Given the description of an element on the screen output the (x, y) to click on. 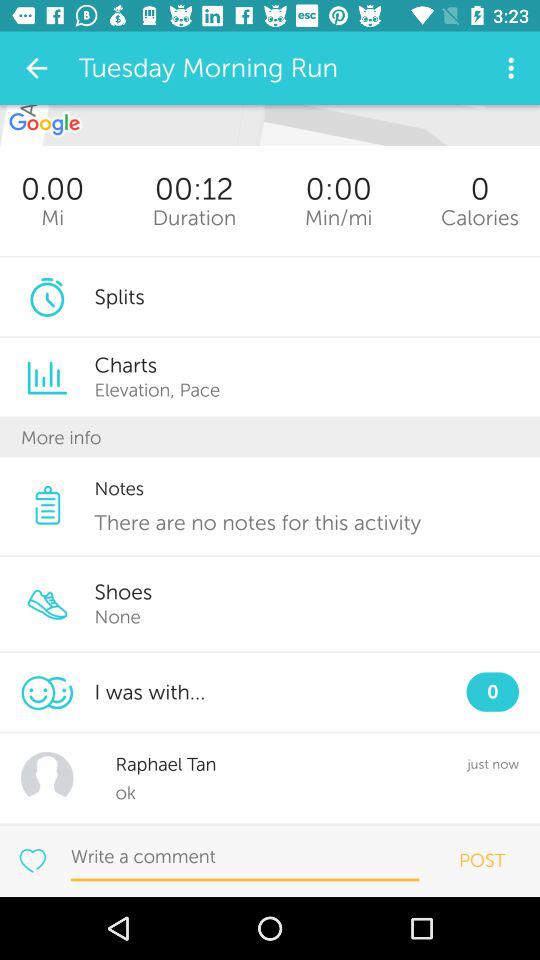
choose the icon below 0:00 (338, 217)
